Given the description of an element on the screen output the (x, y) to click on. 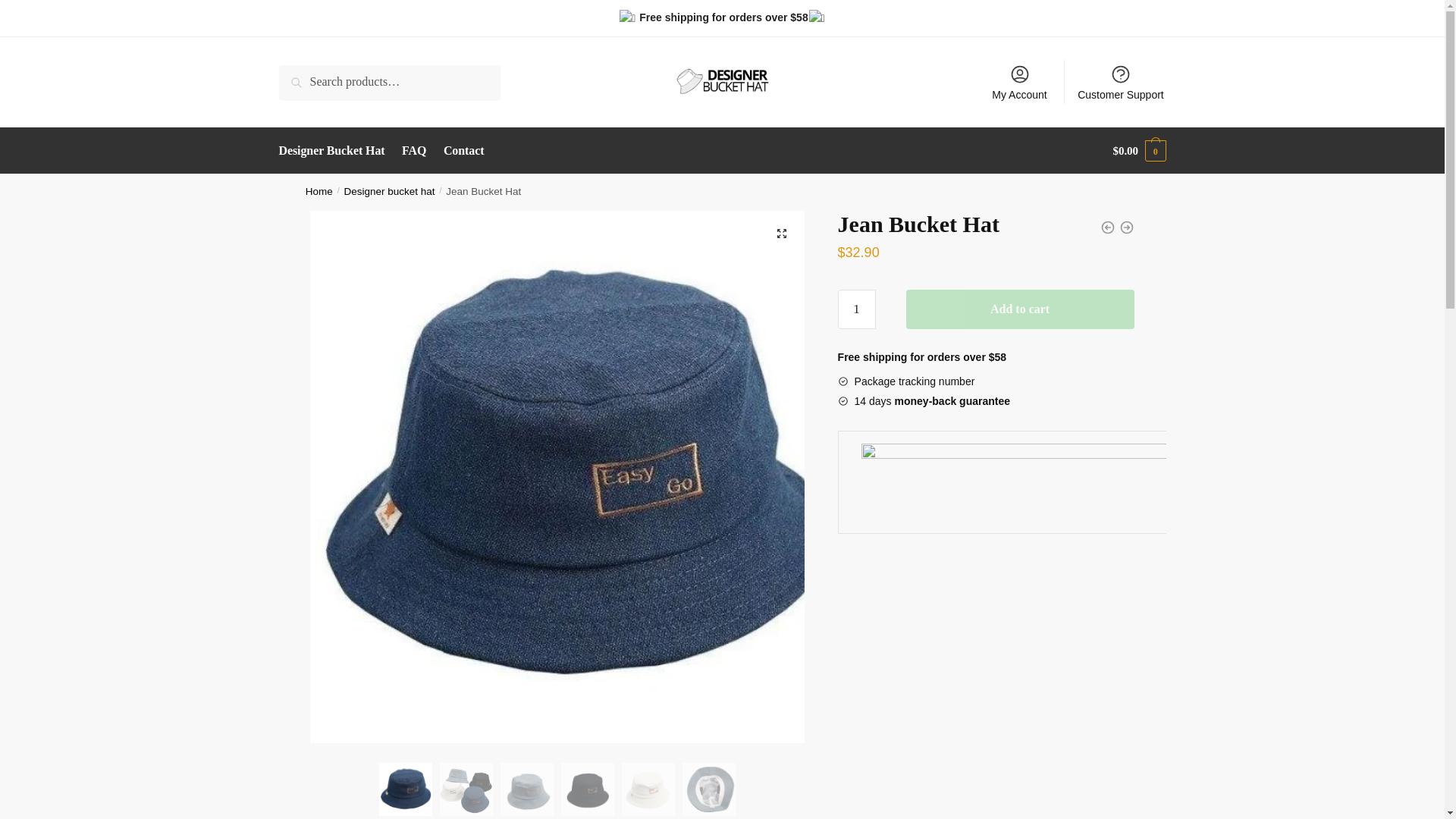
1 (857, 309)
Customer Support (1120, 81)
Designer Bucket Hat (335, 150)
Designer bucket hat (389, 191)
Add to cart (1019, 309)
Home (319, 191)
Contact (463, 150)
View your shopping cart (1139, 150)
Search (300, 75)
My Account (1019, 81)
